Given the description of an element on the screen output the (x, y) to click on. 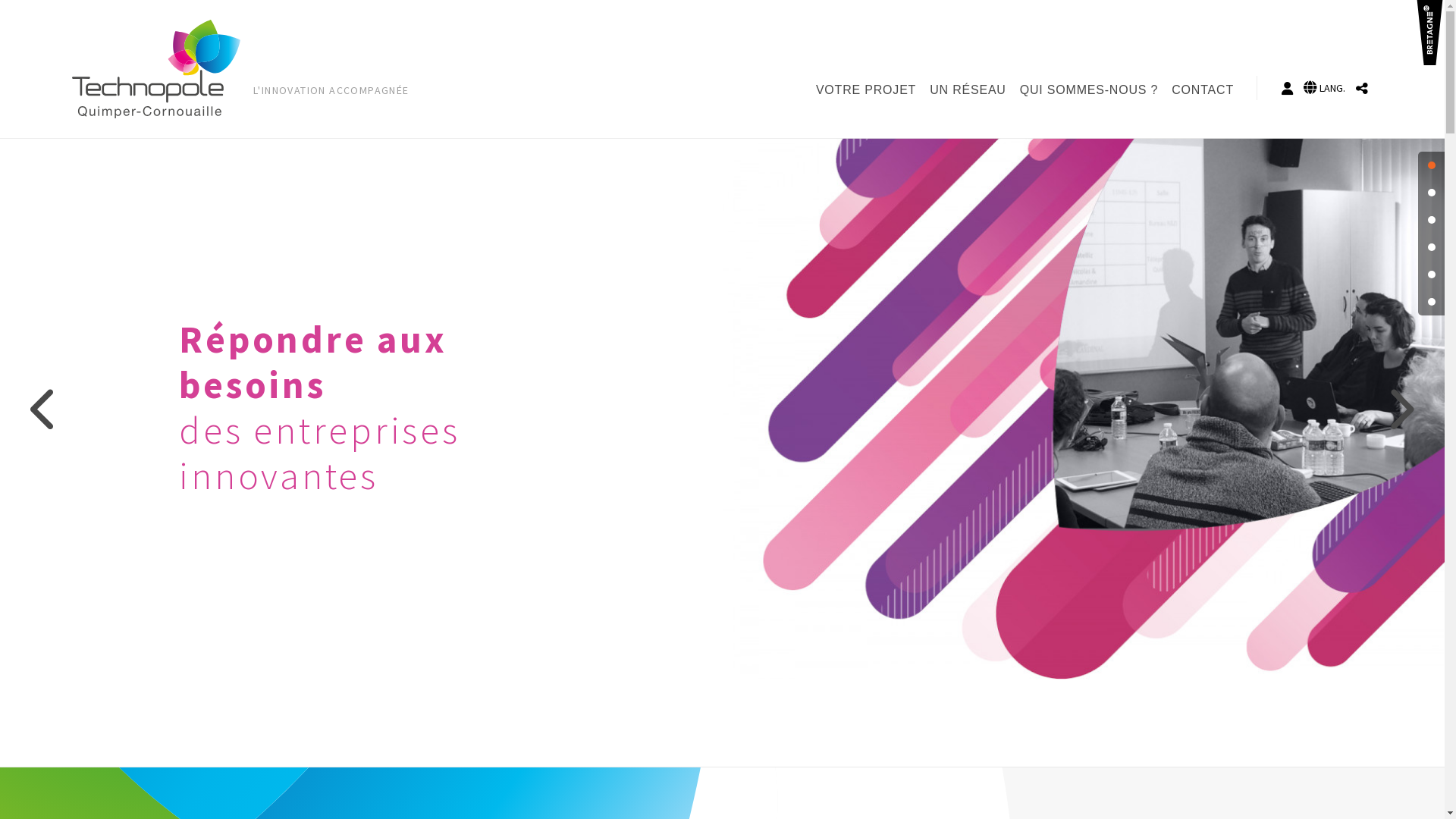
Partager Element type: hover (1361, 87)
QUI SOMMES-NOUS ? Element type: text (1091, 89)
LANG. Element type: text (1324, 87)
S'identifier Element type: hover (1287, 87)
VOTRE PROJET Element type: text (868, 89)
CONTACT Element type: text (1205, 89)
